Given the description of an element on the screen output the (x, y) to click on. 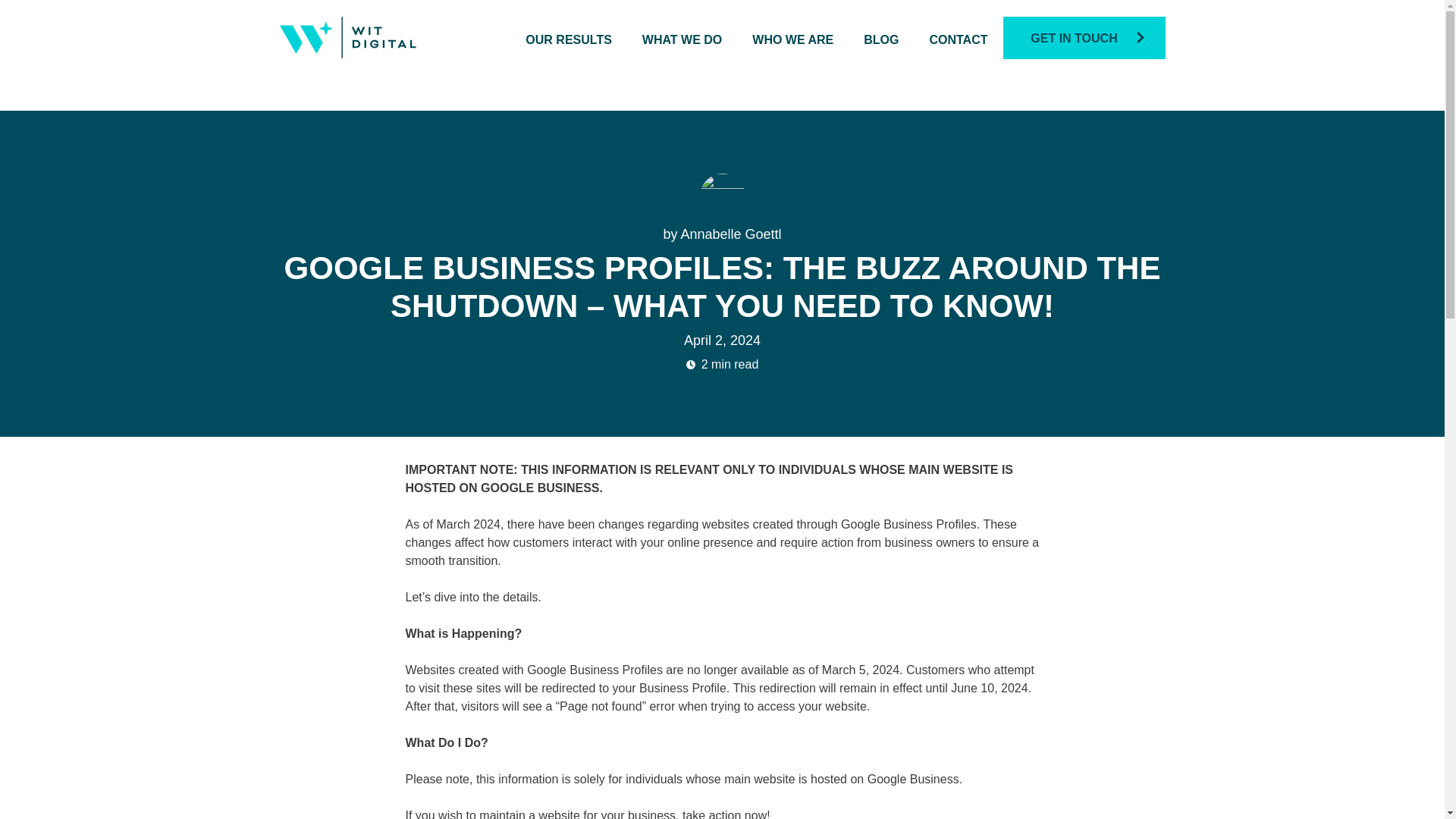
GET IN TOUCH (1083, 37)
BLOG (880, 40)
OUR RESULTS (568, 40)
WHO WE ARE (792, 40)
Get In Touch (1083, 37)
WHAT WE DO (682, 40)
CONTACT (957, 40)
